Given the description of an element on the screen output the (x, y) to click on. 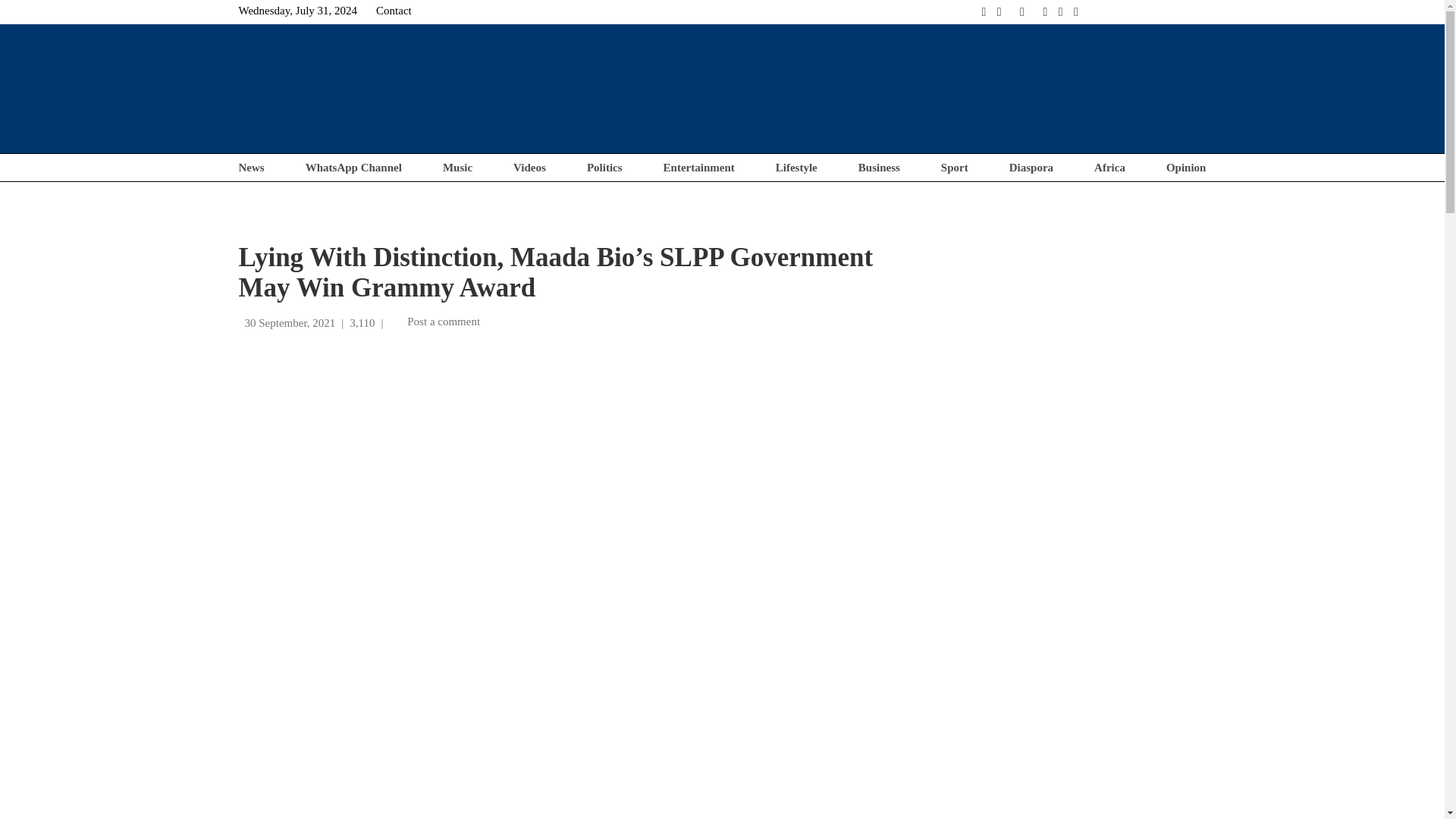
Music (456, 167)
News (250, 167)
Entertainment (699, 167)
Business (879, 167)
30 September, 2021 (289, 322)
Videos (529, 167)
Politics (604, 167)
Opinion (1186, 167)
Contact (393, 10)
Diaspora (1030, 167)
Lifestyle (796, 167)
Africa (1109, 167)
Wednesday, July 31, 2024 (297, 10)
Sport (954, 167)
WhatsApp Channel (353, 167)
